Given the description of an element on the screen output the (x, y) to click on. 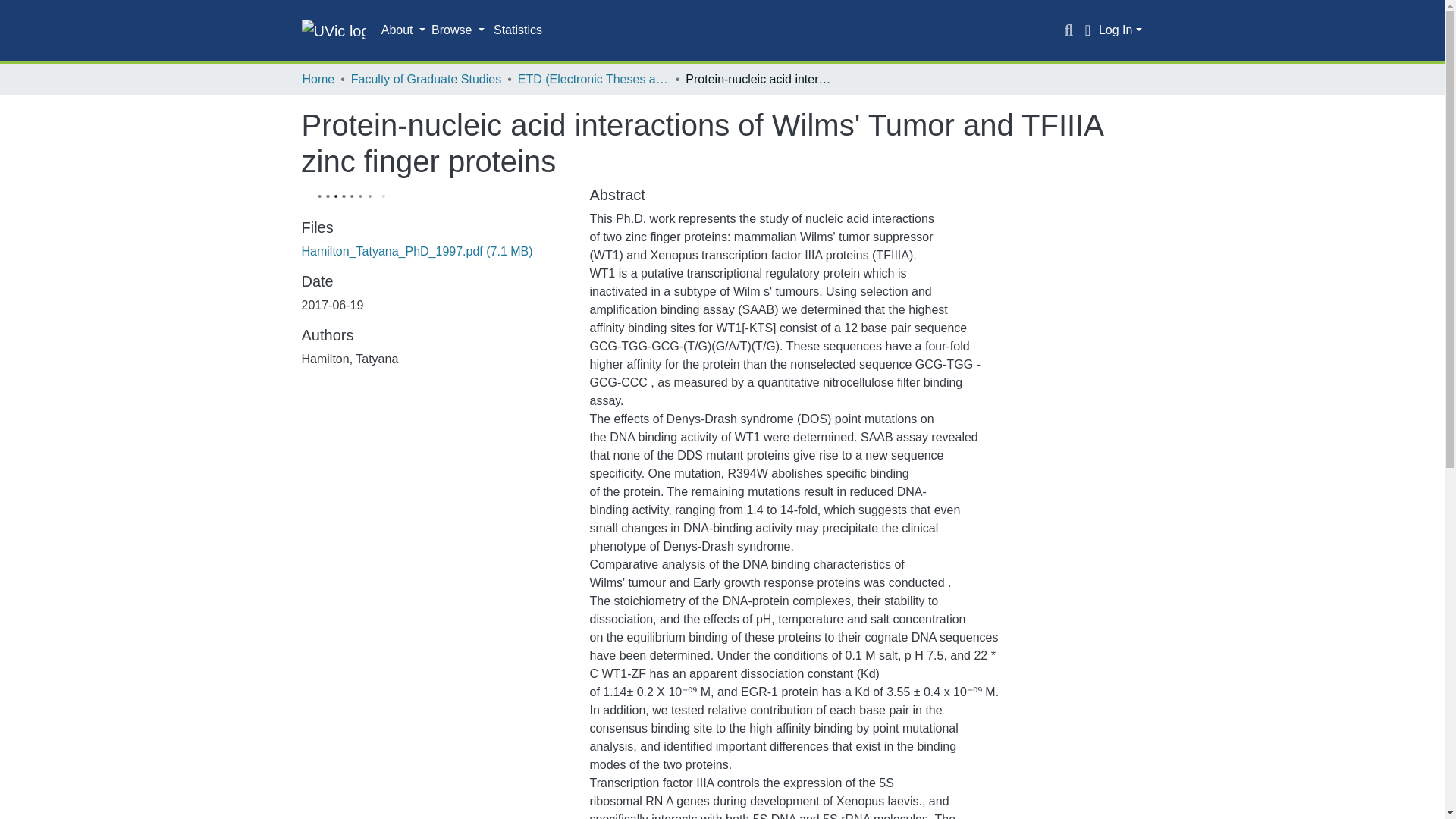
Statistics (517, 30)
Home (317, 79)
Faculty of Graduate Studies (425, 79)
Language switch (1087, 30)
About (403, 30)
Browse (457, 30)
Statistics (517, 30)
Log In (1119, 29)
Search (1068, 30)
